Given the description of an element on the screen output the (x, y) to click on. 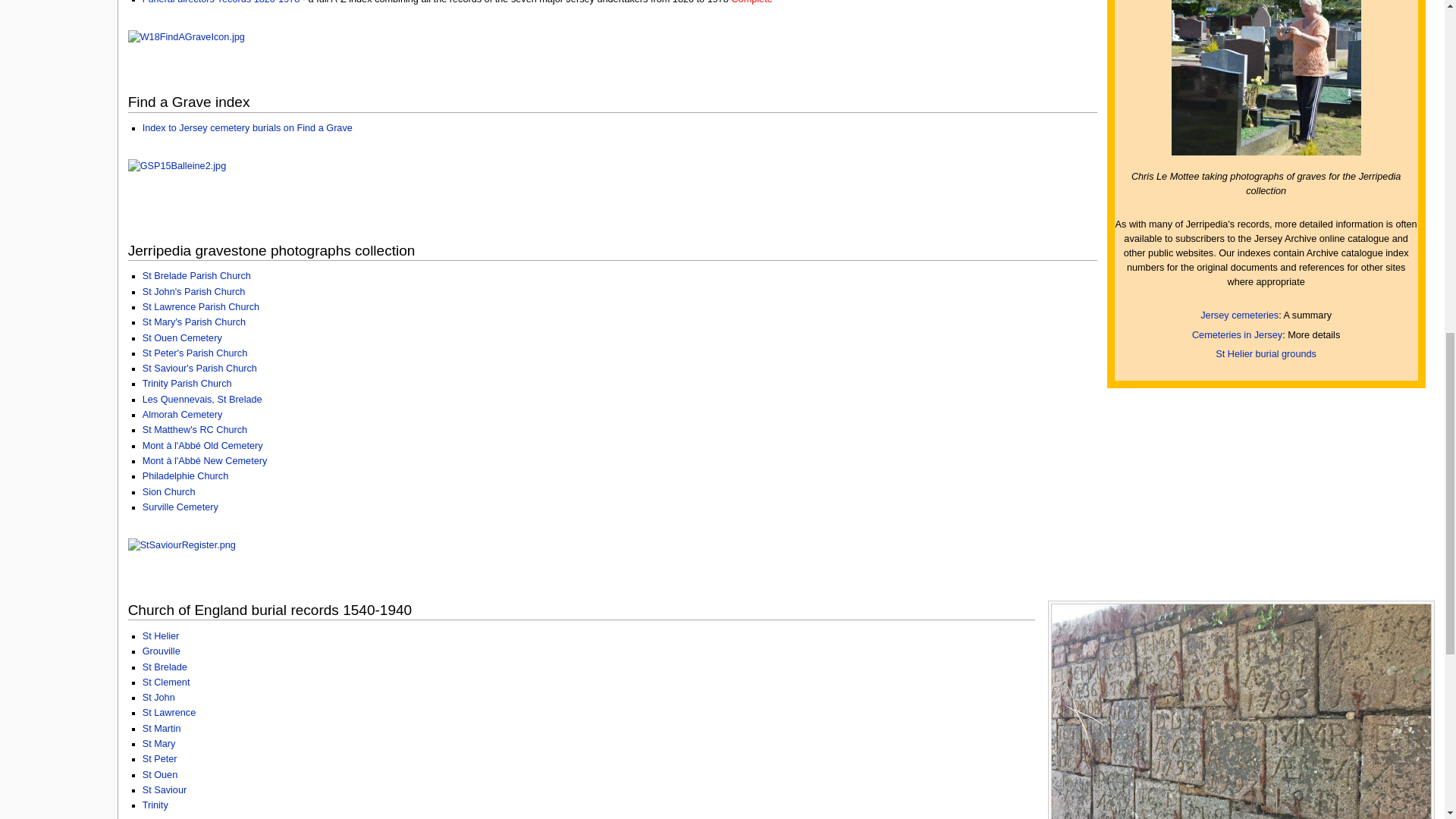
Jersey cemeteries (1238, 315)
Index to Jersey cemetery burials on Find a Grave (247, 127)
St Helier burial grounds (1265, 353)
St Peter's Parish Church (194, 353)
Cemeteries in Jersey (1237, 335)
St Lawrence Parish Church (200, 307)
Funeral directors' records 1820-1978 (220, 2)
St Helier burial grounds (1265, 353)
St Mary's Parish Church (194, 321)
Cemeteries in Jersey (1237, 335)
Trinity Parish Church (186, 383)
St Brelade Parish Church (196, 276)
St Brelade Church gravestones (196, 276)
Les Quennevais, St Brelade (202, 398)
St John's Parish Church (194, 291)
